Given the description of an element on the screen output the (x, y) to click on. 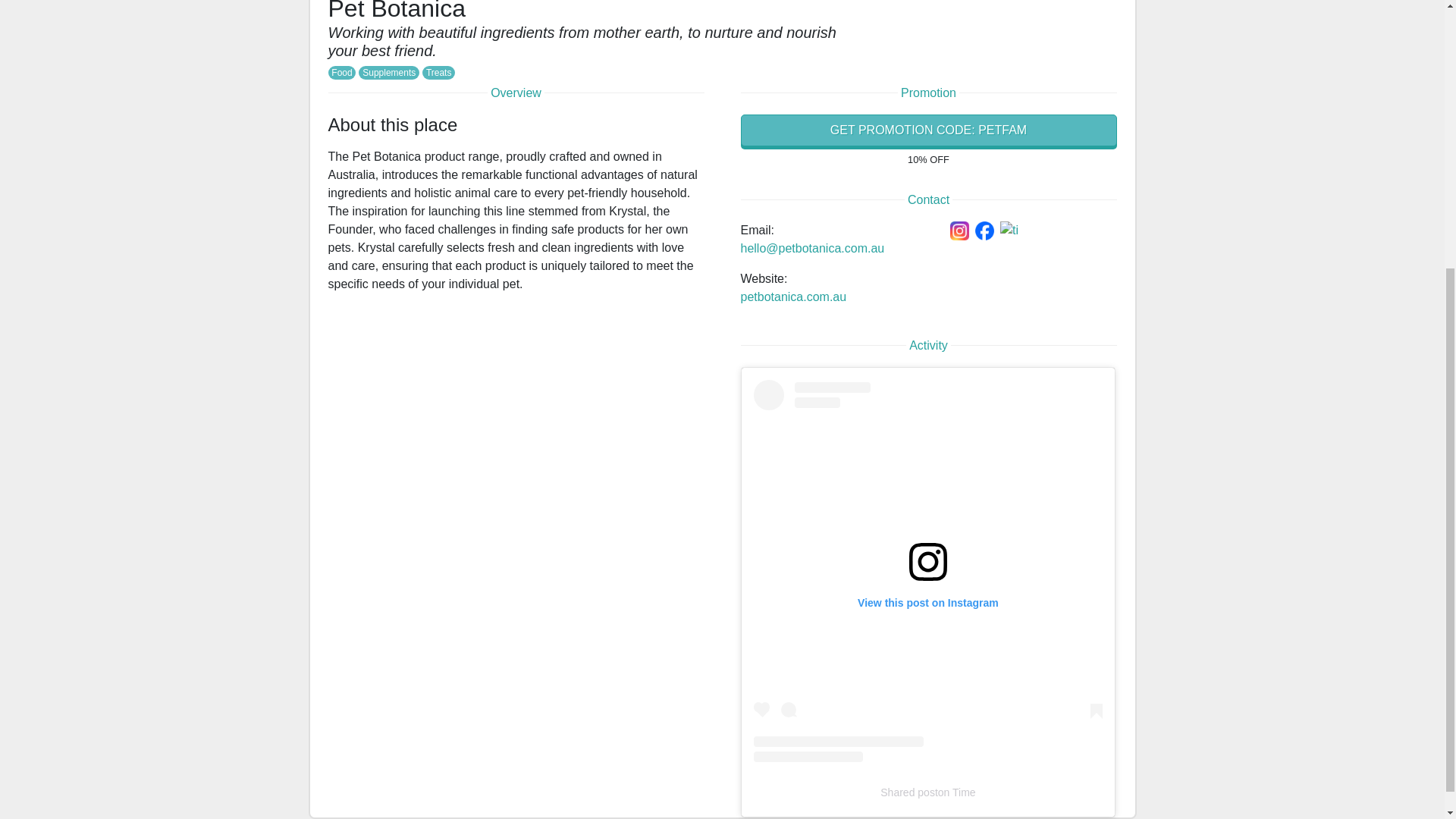
View this post on Instagram (928, 571)
Shared post (908, 792)
GET PROMOTION CODE: PETFAM (927, 130)
petbotanica.com.au (792, 296)
